Given the description of an element on the screen output the (x, y) to click on. 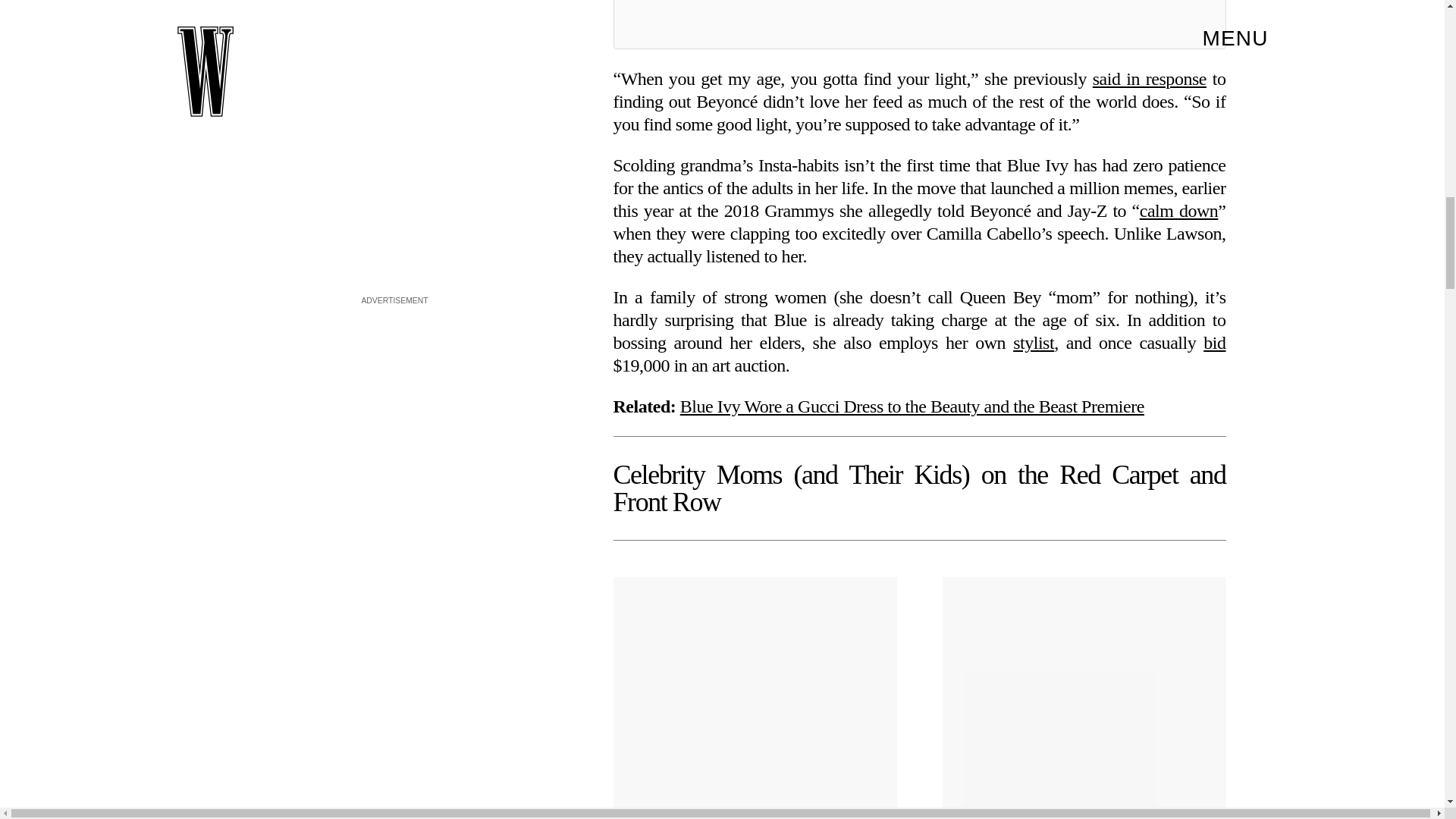
said in response (1150, 78)
calm down (1179, 210)
bid (1214, 342)
stylist (1033, 342)
